Given the description of an element on the screen output the (x, y) to click on. 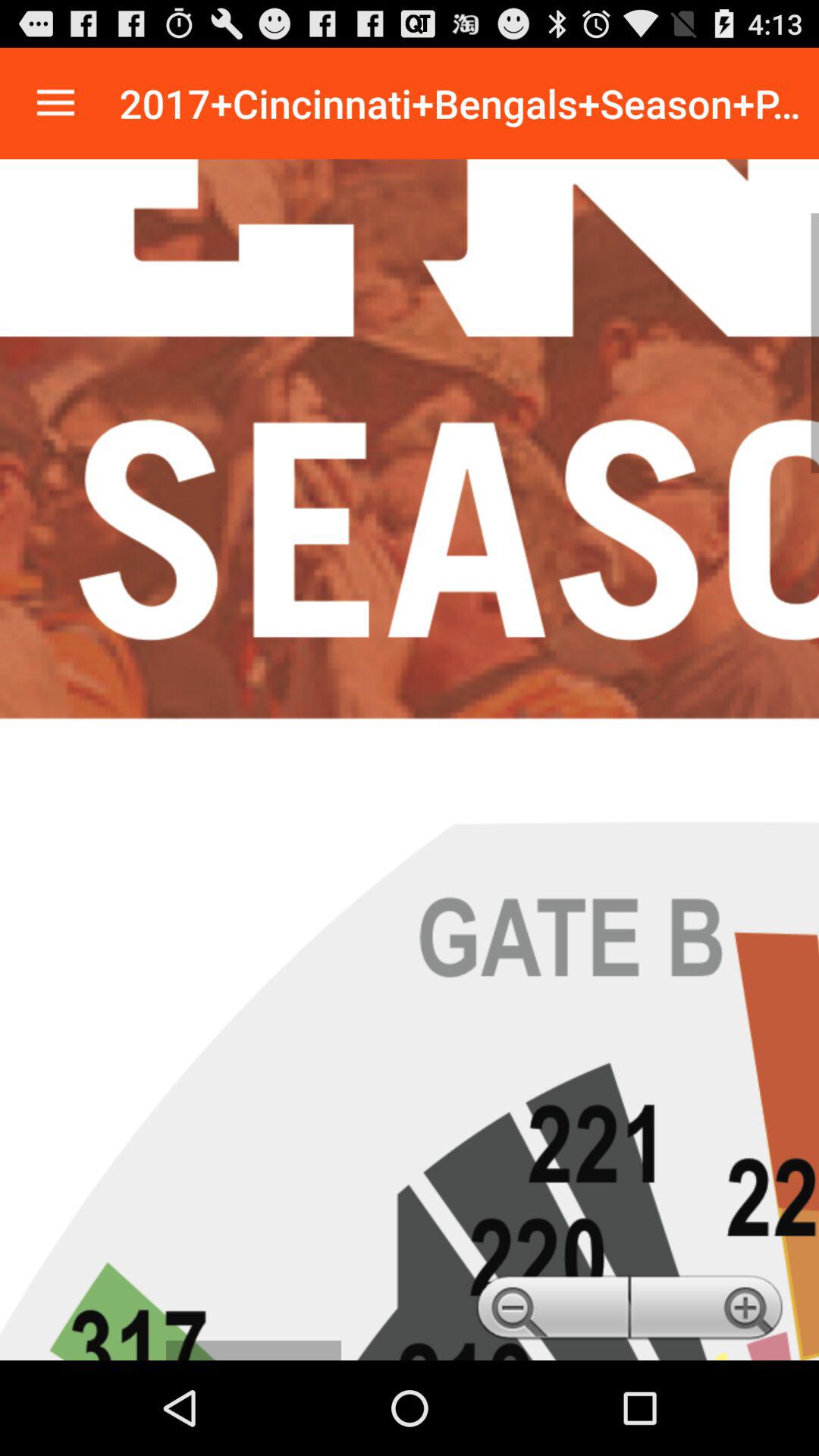
options and settings (55, 103)
